Given the description of an element on the screen output the (x, y) to click on. 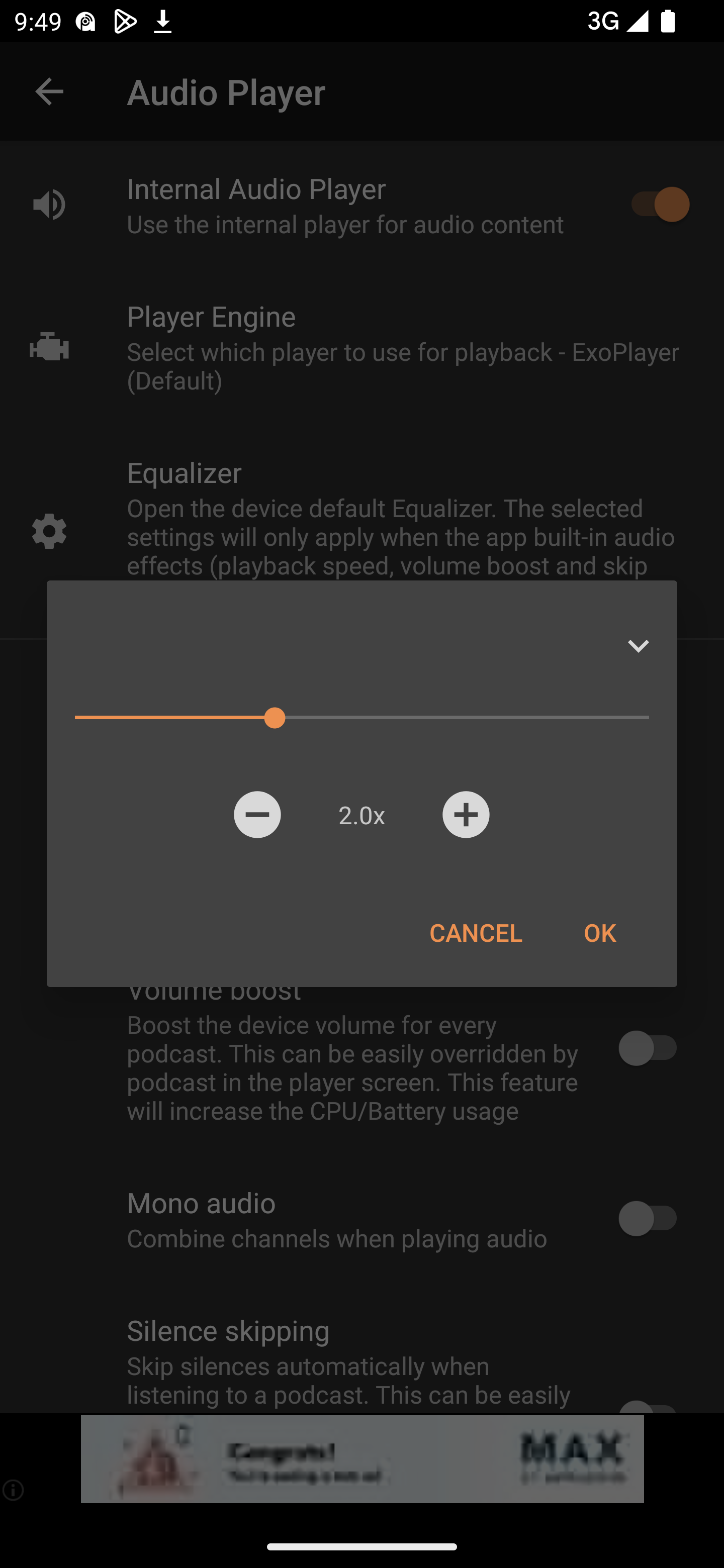
Expand (637, 645)
2.0x (361, 814)
CANCEL (475, 932)
OK (599, 932)
